Given the description of an element on the screen output the (x, y) to click on. 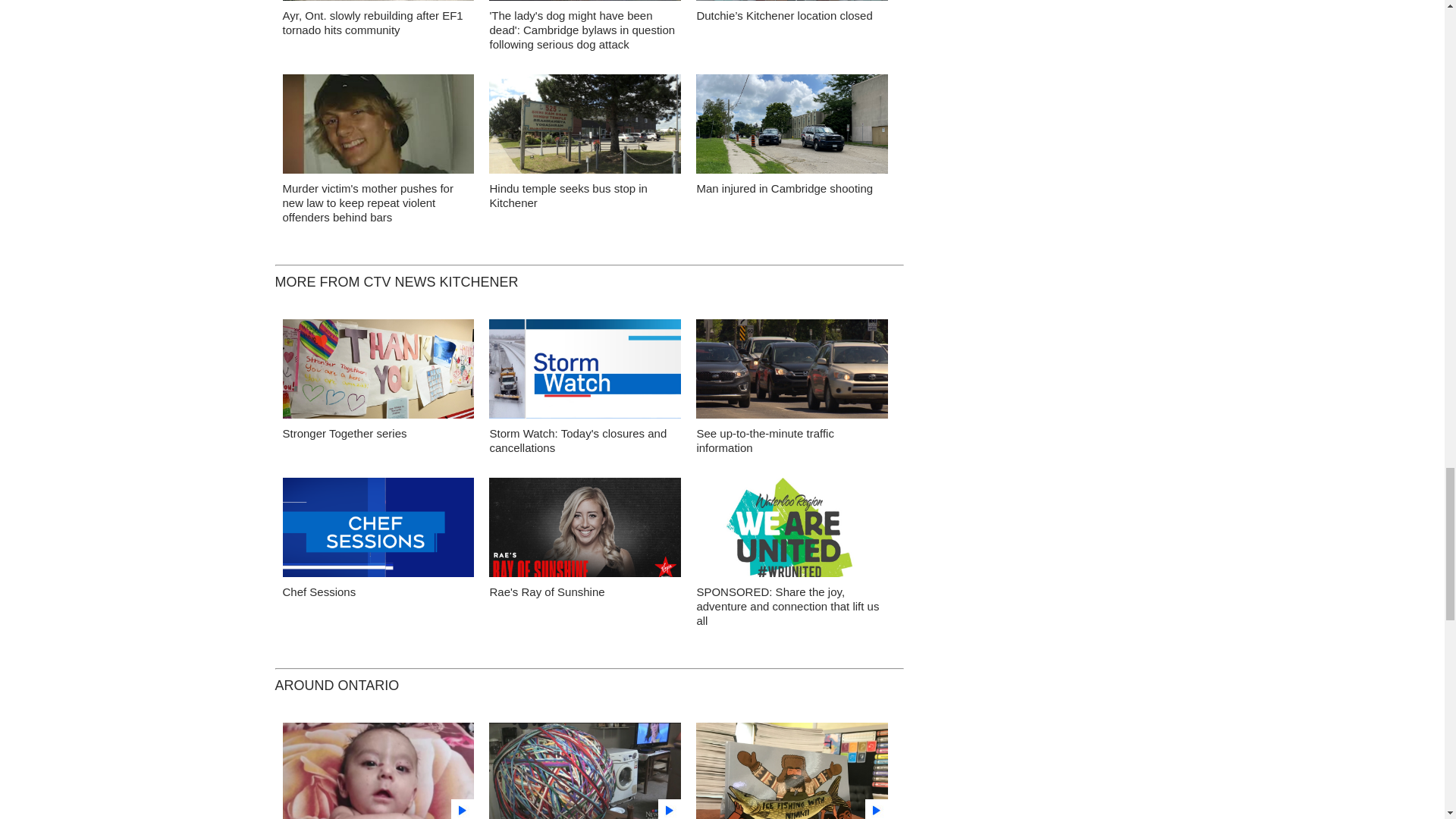
Rae's Ray of Sunshine (585, 531)
Chef Sessions (378, 531)
home hardware (378, 4)
Shri Ram Dham Hindu Temple (585, 127)
ICU at Windsor Regional Hospital (378, 372)
dutchie's kitchener (791, 4)
Traffic (791, 372)
Storm Watch (585, 372)
Emerson Sprung (378, 127)
Cambridge shooting investigation August 18, 2024 (791, 127)
